Given the description of an element on the screen output the (x, y) to click on. 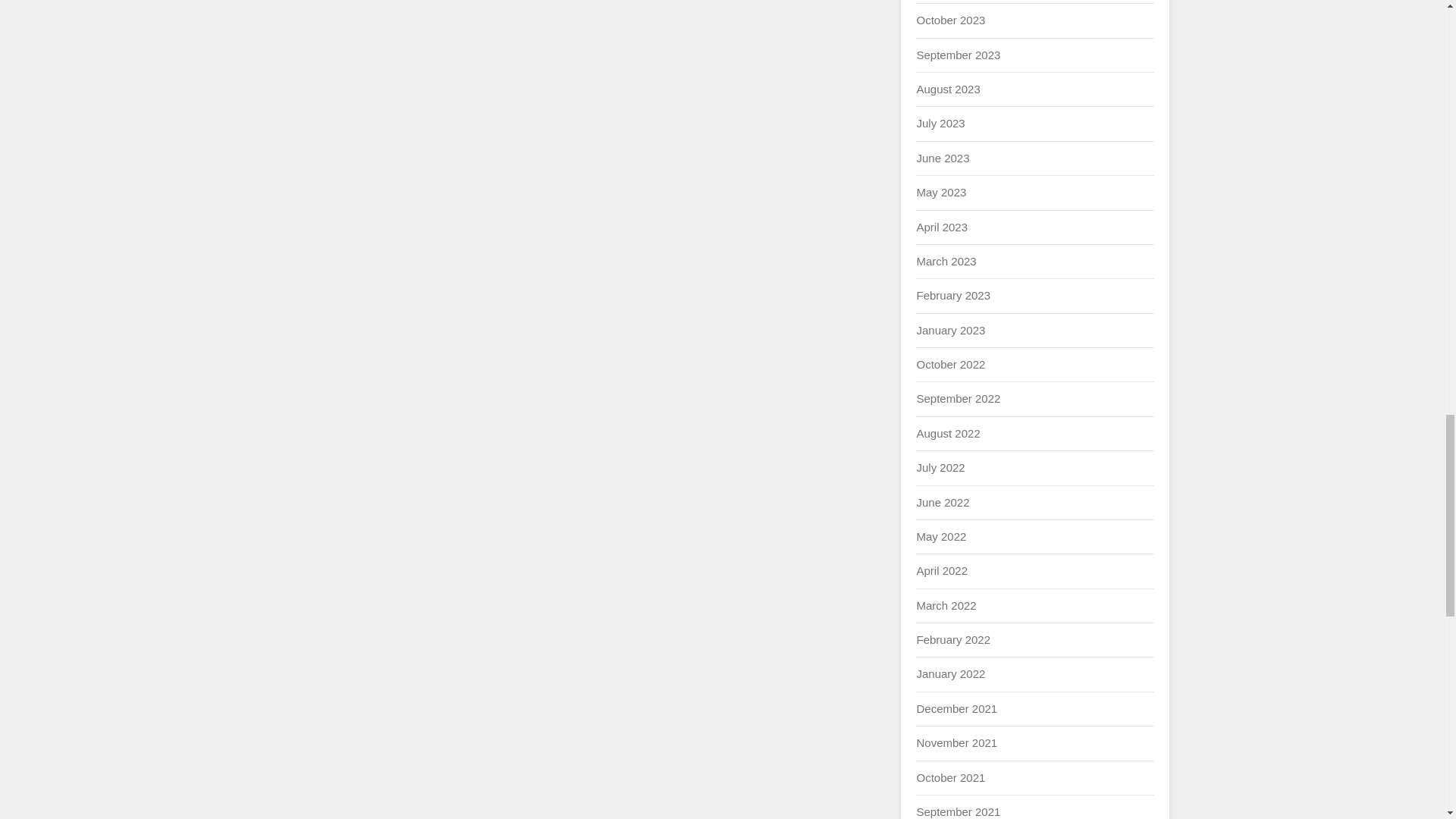
May 2023 (940, 192)
January 2023 (950, 329)
June 2023 (942, 157)
August 2023 (947, 88)
April 2023 (941, 226)
March 2023 (945, 260)
October 2023 (950, 19)
October 2022 (950, 364)
September 2023 (957, 54)
July 2023 (939, 123)
